Given the description of an element on the screen output the (x, y) to click on. 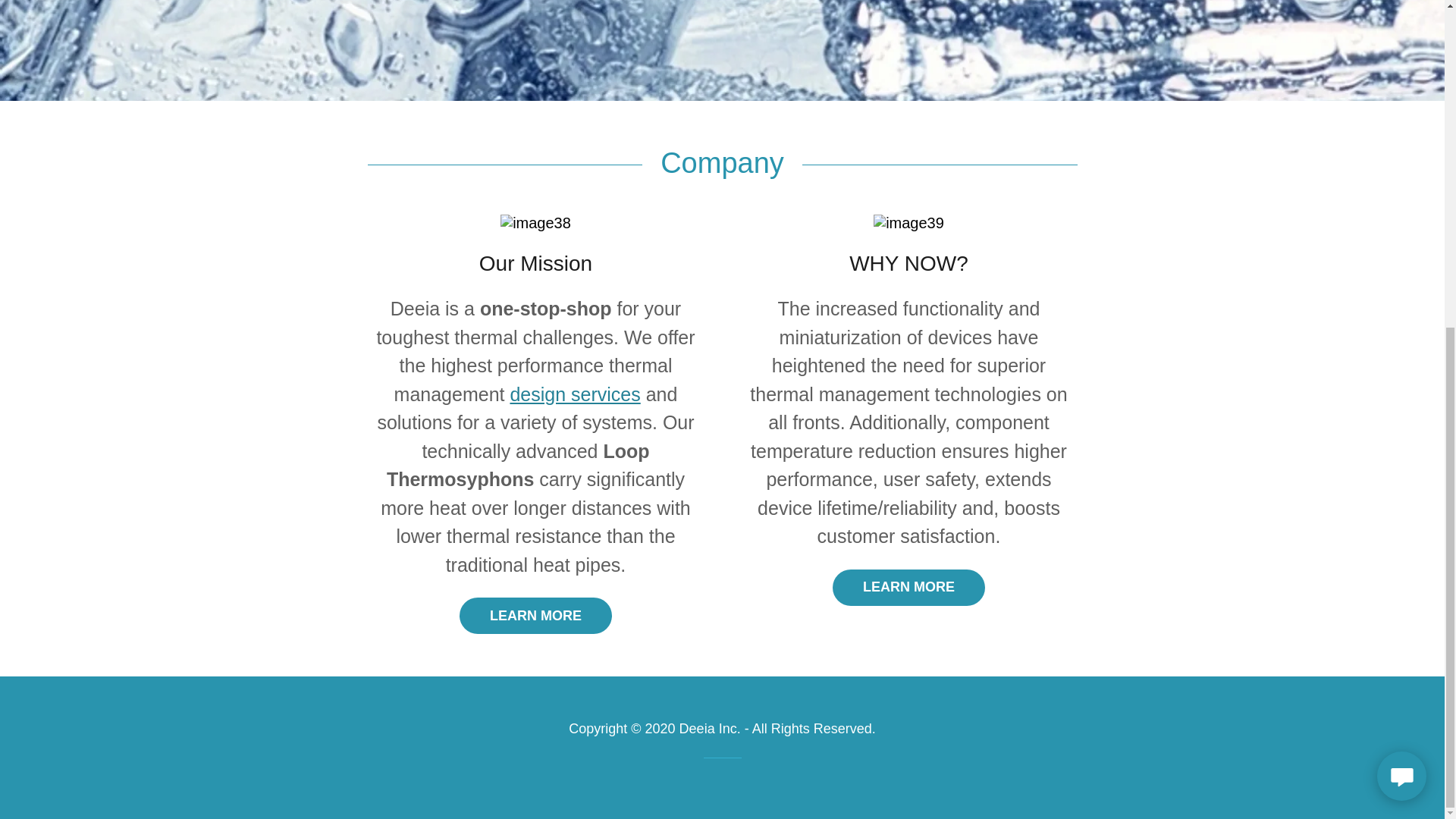
design services (574, 394)
LEARN MORE (908, 587)
LEARN MORE (535, 615)
